Given the description of an element on the screen output the (x, y) to click on. 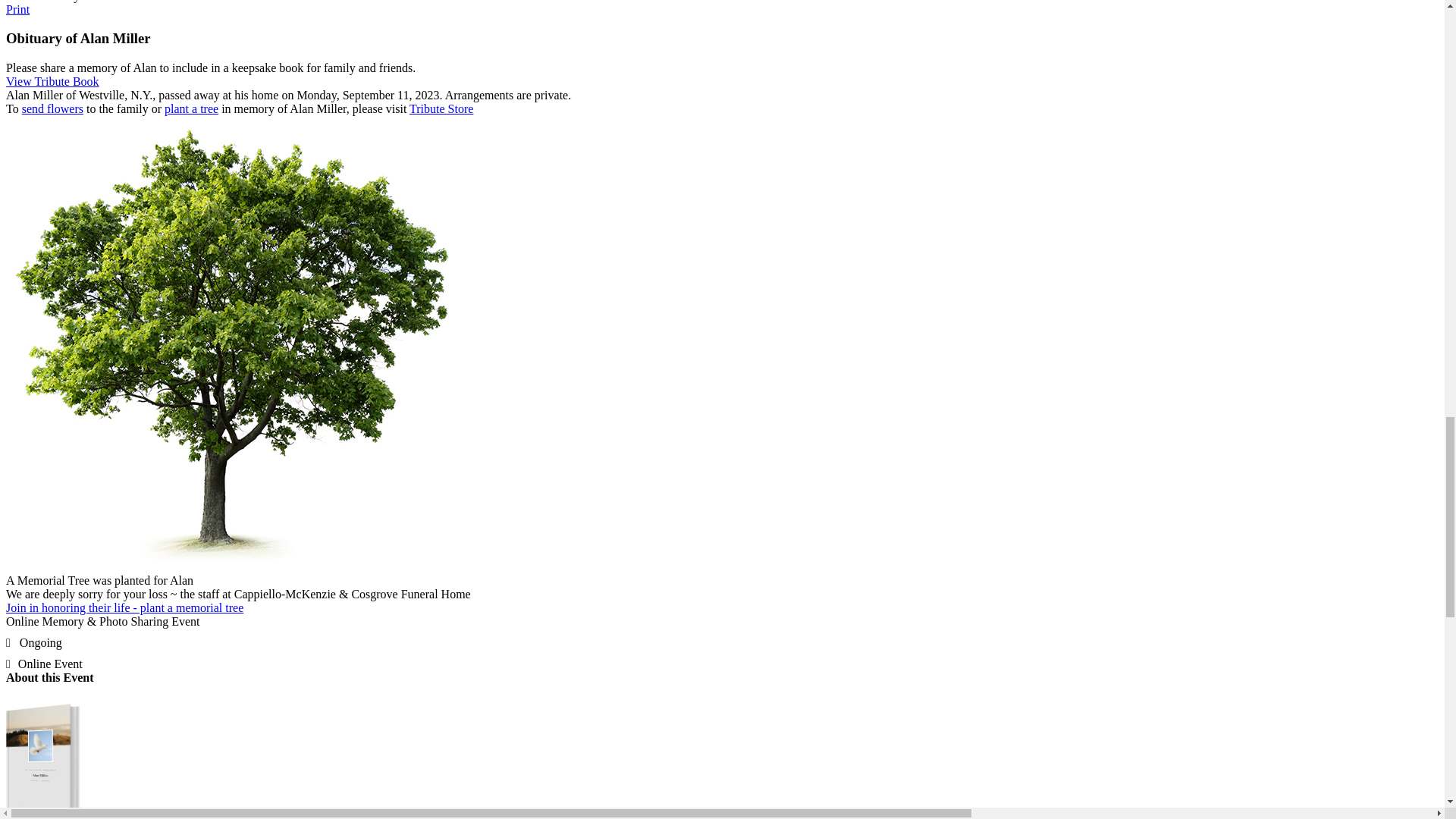
Print (17, 9)
